Given the description of an element on the screen output the (x, y) to click on. 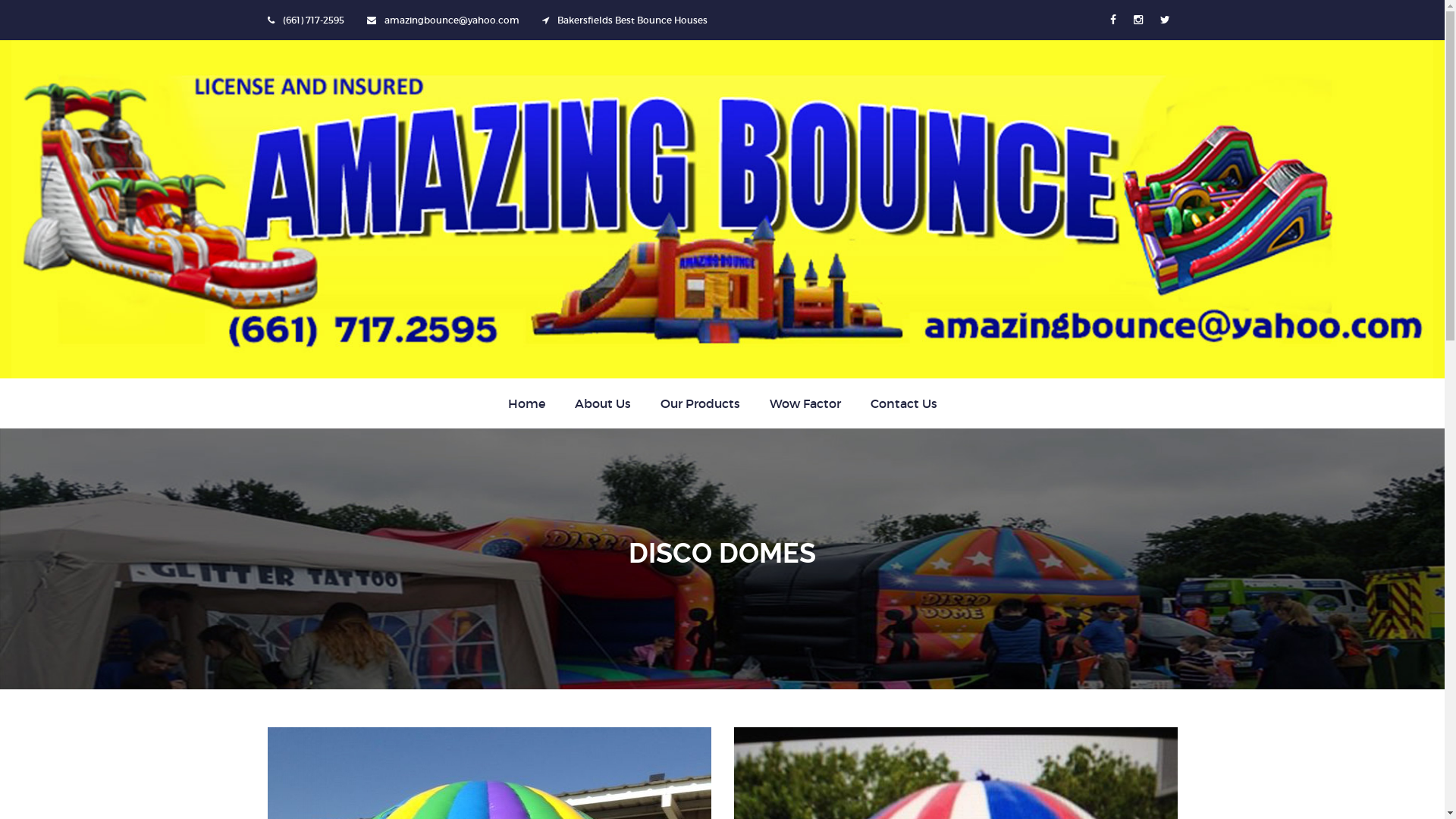
Our Products Element type: text (699, 403)
About Us Element type: text (602, 403)
amazingbounce@yahoo.com Element type: text (450, 19)
Home Element type: text (526, 403)
Wow Factor Element type: text (804, 403)
(661) 717-2595 Element type: text (312, 19)
Contact Us Element type: text (903, 403)
